Given the description of an element on the screen output the (x, y) to click on. 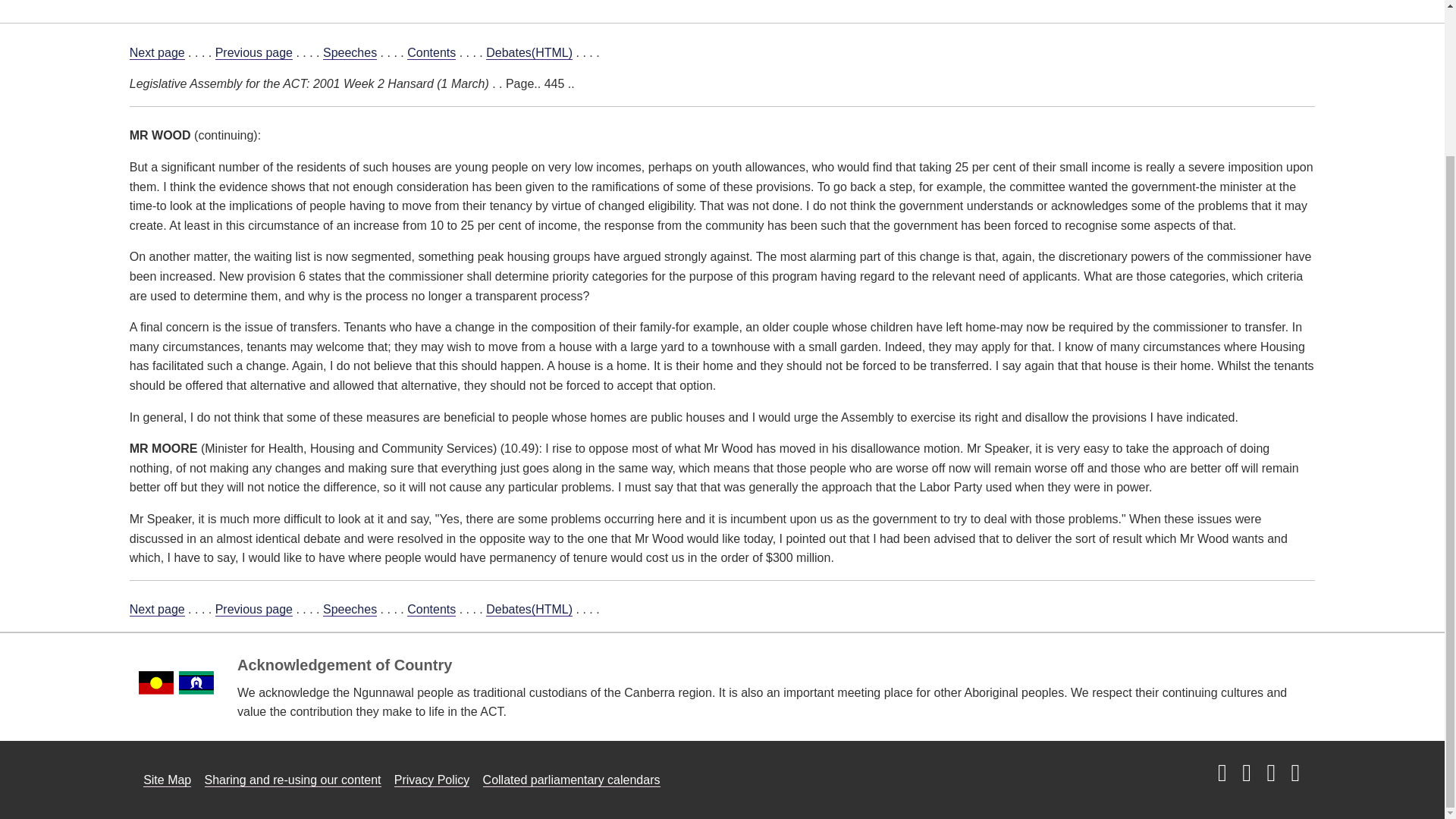
Site Map (166, 780)
Home (148, 4)
Previous page (253, 52)
Speech indexes (659, 4)
Link to Privacy Policy (432, 780)
Speeches (350, 609)
Speeches (350, 52)
Questions (442, 4)
Subject indexes (544, 4)
Privacy Policy (432, 780)
Digest of Proceedings (793, 4)
Previous page (253, 609)
Link to Site Map (166, 780)
Collated parliamentary calendars (572, 780)
Sharing and re-using our content (293, 780)
